Given the description of an element on the screen output the (x, y) to click on. 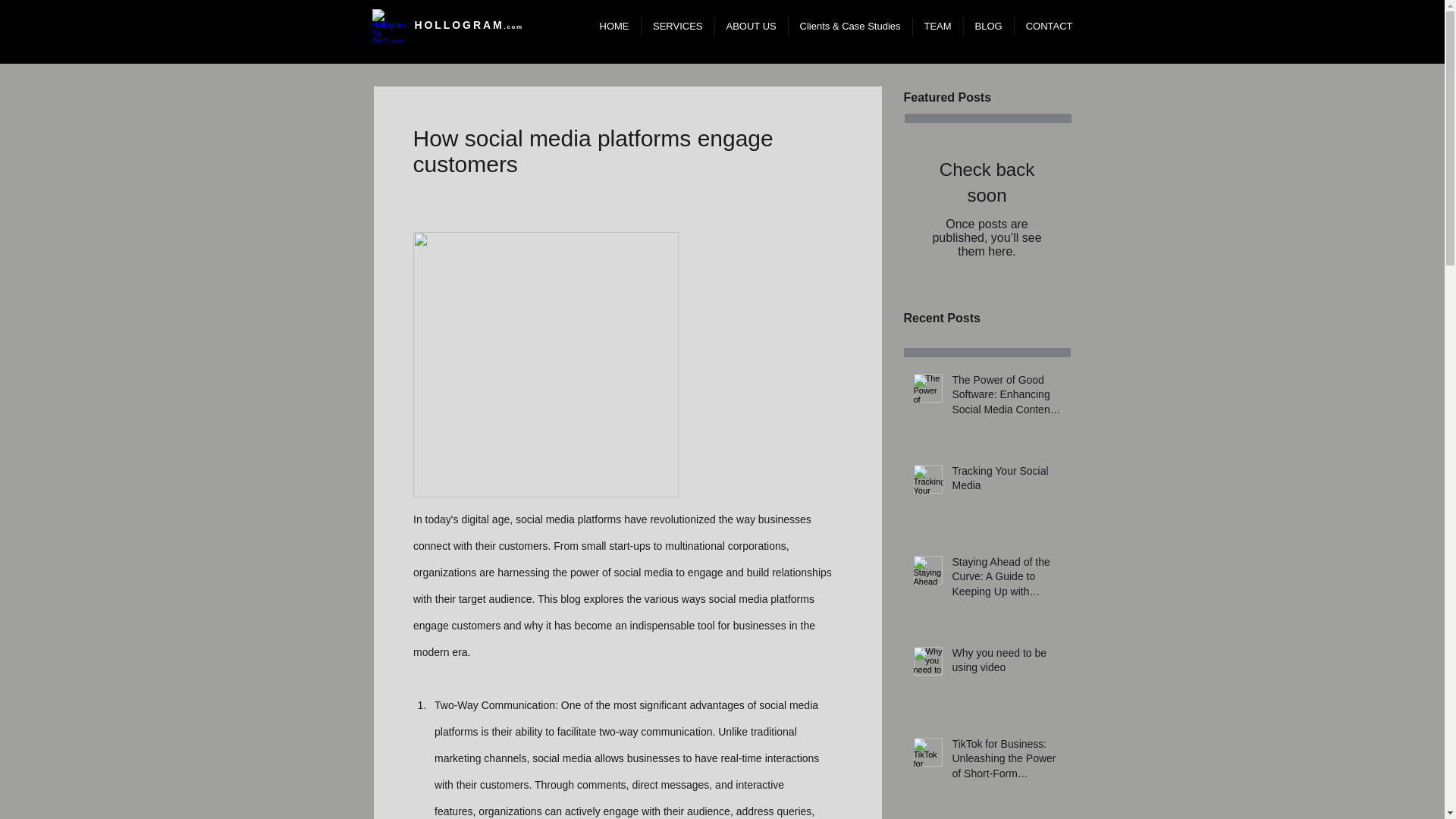
SERVICES (676, 26)
TEAM (936, 26)
Tracking Your Social Media (1006, 481)
BLOG (987, 26)
.com (512, 26)
CONTACT (1048, 26)
HOLLOGRAM (458, 24)
ABOUT US (750, 26)
